Given the description of an element on the screen output the (x, y) to click on. 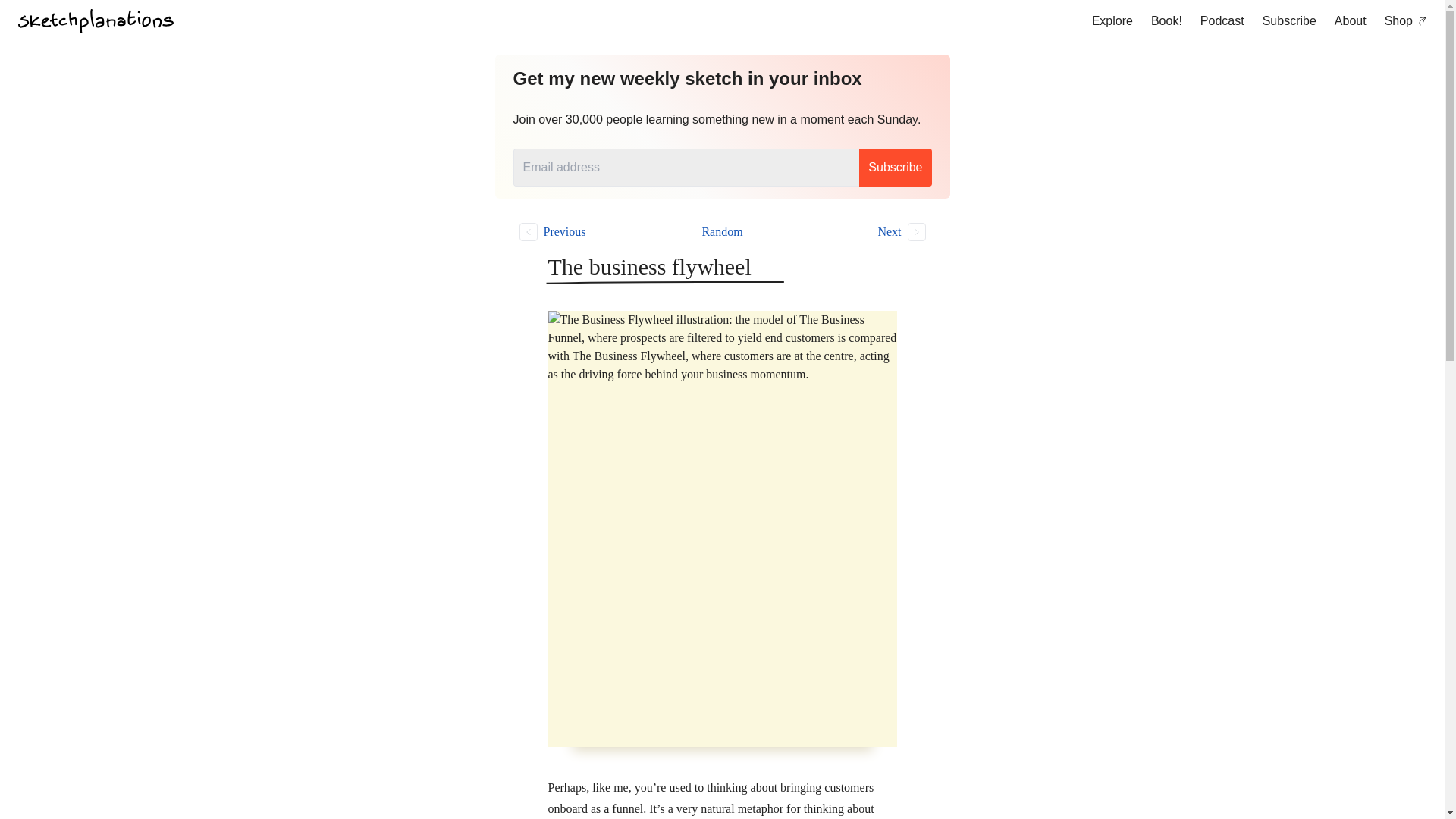
Shop (1405, 21)
Podcast (1222, 21)
Fruit vs vegetable (602, 231)
Previous (602, 231)
Random (722, 232)
About (1349, 21)
Book! (1166, 21)
Proportionality bias (841, 231)
Subscribe (1288, 21)
Explore (1112, 21)
Subscribe (895, 167)
Next (841, 231)
